Given the description of an element on the screen output the (x, y) to click on. 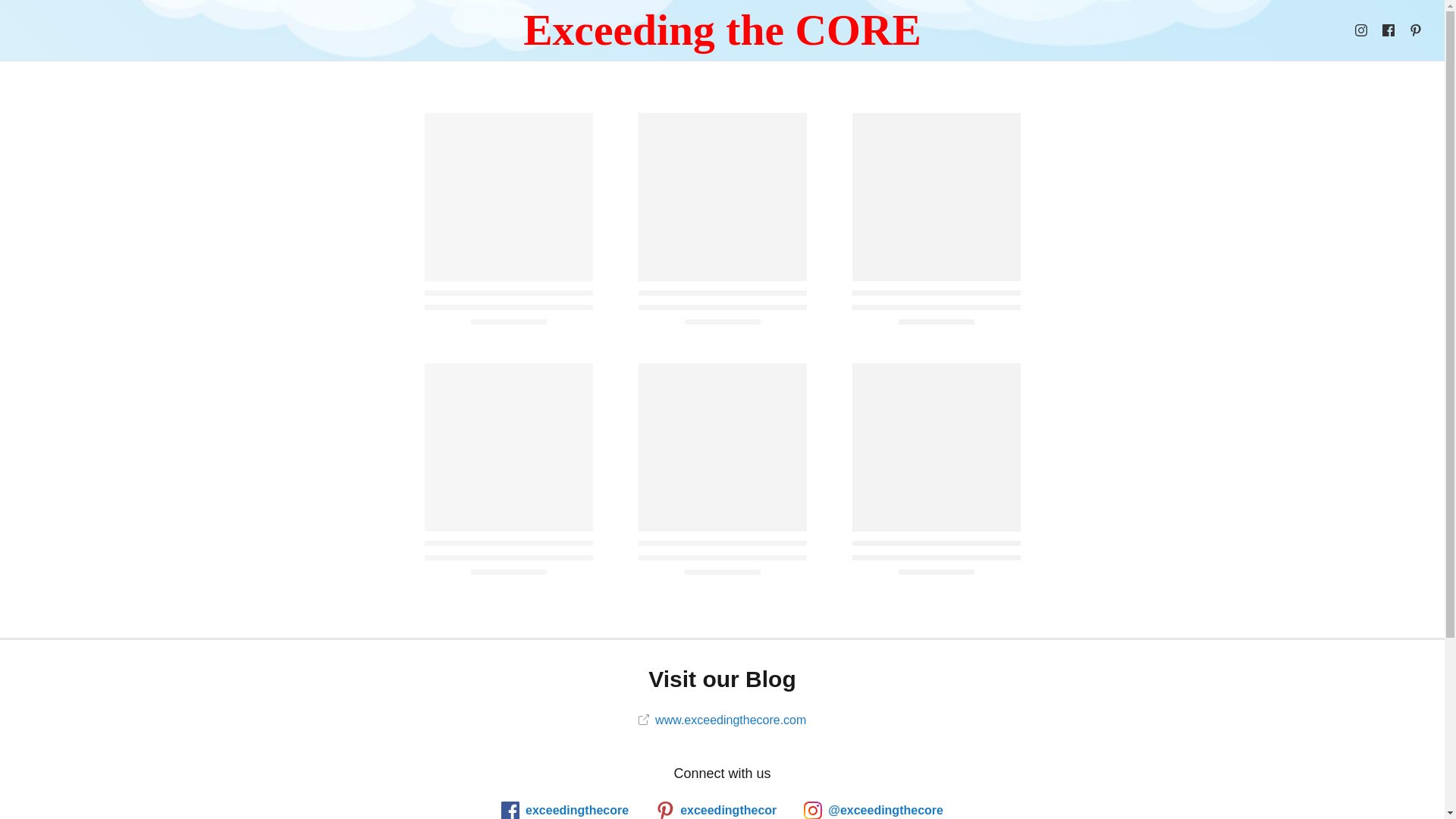
Exceeding the CORE (721, 30)
exceedingthecore (564, 810)
www.exceedingthecore.com (722, 719)
exceedingthecor (716, 810)
